Given the description of an element on the screen output the (x, y) to click on. 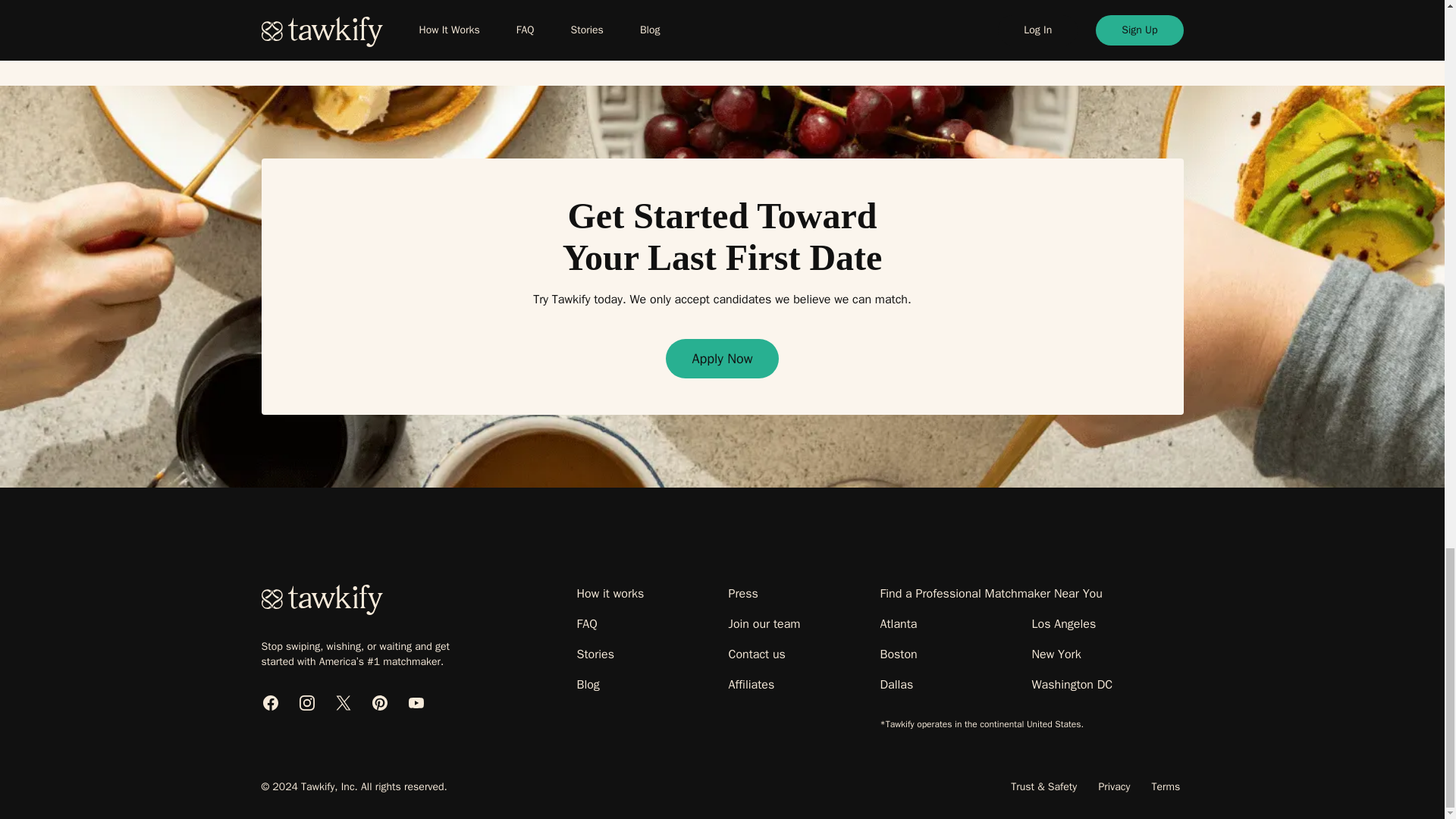
Contact us (756, 654)
Blog (587, 684)
Join our team (763, 623)
Affiliates (751, 684)
Instagram (306, 702)
Dallas (895, 684)
FAQ (586, 623)
Find a Professional Matchmaker Near You (990, 593)
Apply Now (721, 358)
New York (1055, 654)
